Given the description of an element on the screen output the (x, y) to click on. 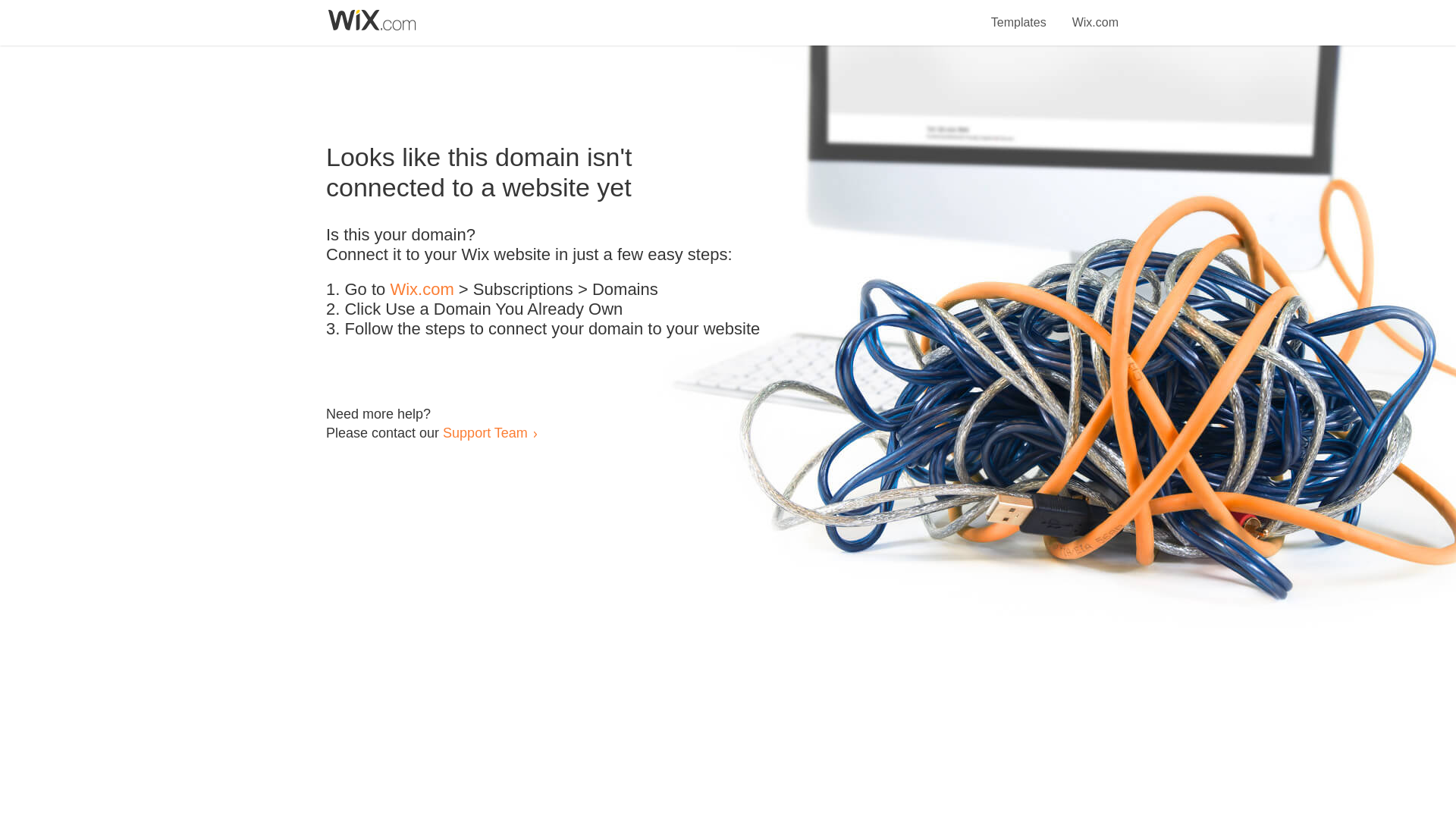
Templates (1018, 14)
Support Team (484, 432)
Wix.com (421, 289)
Wix.com (1095, 14)
